Given the description of an element on the screen output the (x, y) to click on. 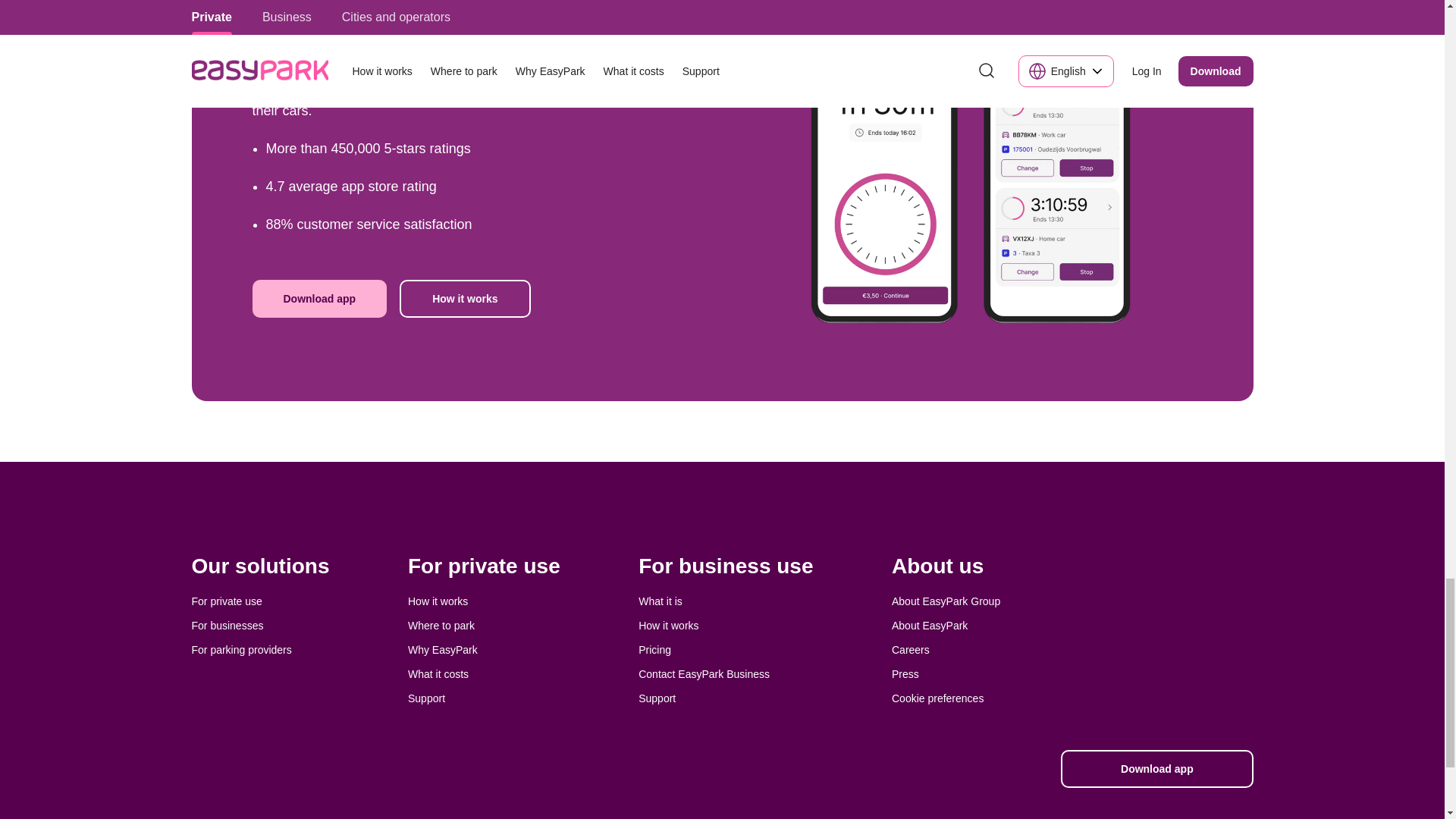
Contact EasyPark Business (704, 674)
How it works (463, 298)
About EasyPark Group (945, 601)
For businesses (226, 625)
Support (657, 698)
Support (426, 698)
What it is (660, 601)
How it works (668, 625)
Download app (319, 298)
How it works (437, 601)
What it costs (437, 674)
Where to park (440, 625)
For private use (226, 601)
About EasyPark (929, 625)
For parking providers (240, 649)
